Given the description of an element on the screen output the (x, y) to click on. 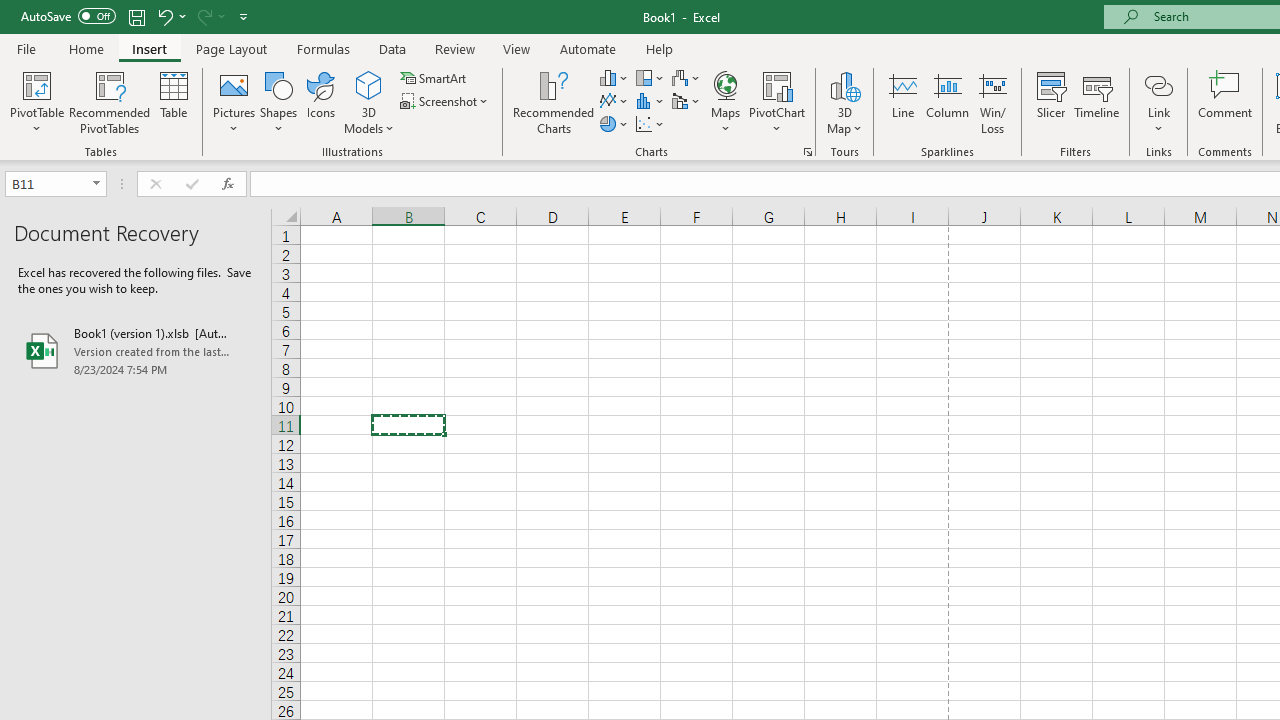
PivotChart (777, 84)
Insert Combo Chart (687, 101)
Timeline (1097, 102)
Shapes (278, 102)
Screenshot (445, 101)
Insert Statistic Chart (651, 101)
